Given the description of an element on the screen output the (x, y) to click on. 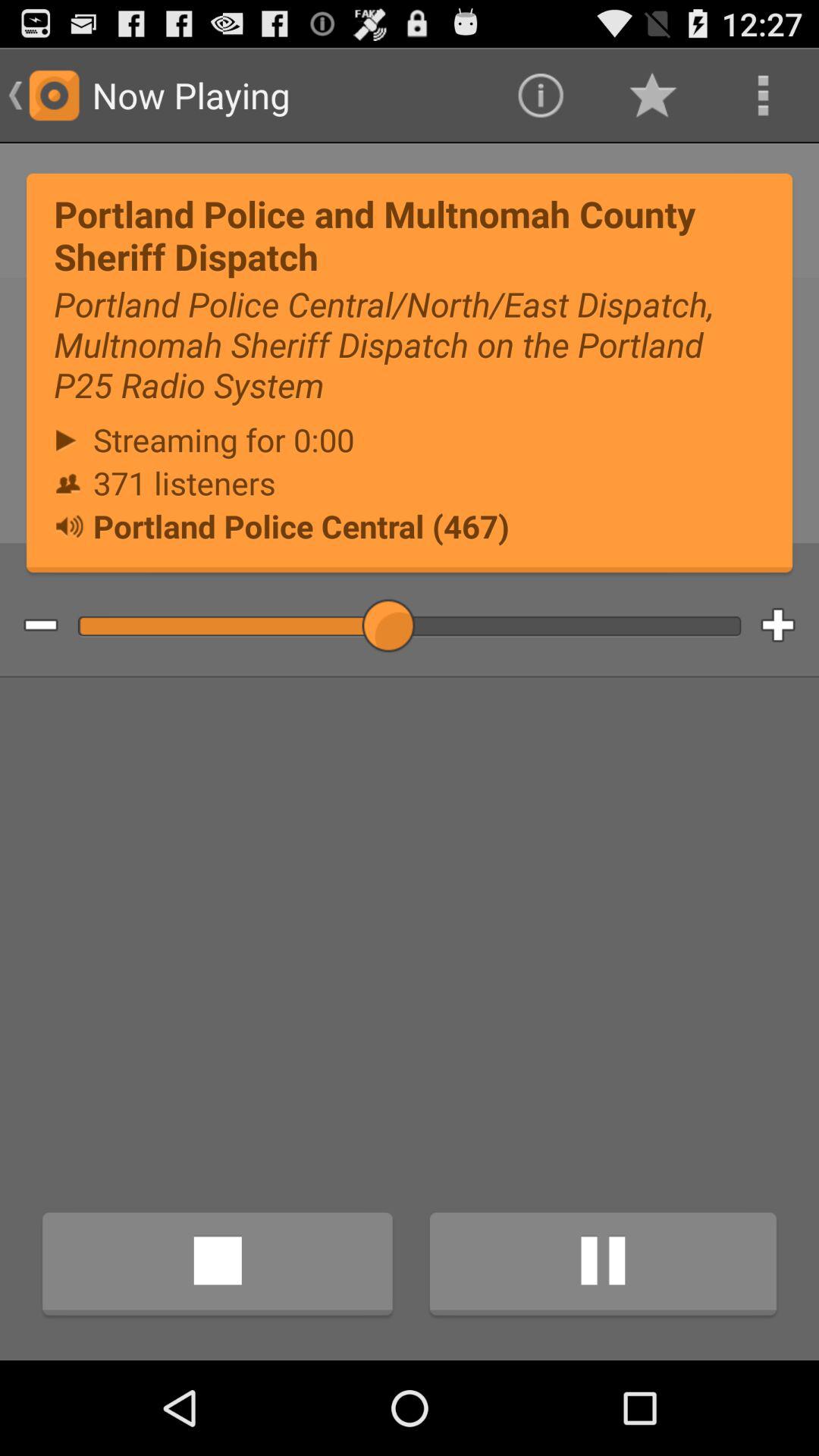
click icon next to now playing (540, 95)
